Given the description of an element on the screen output the (x, y) to click on. 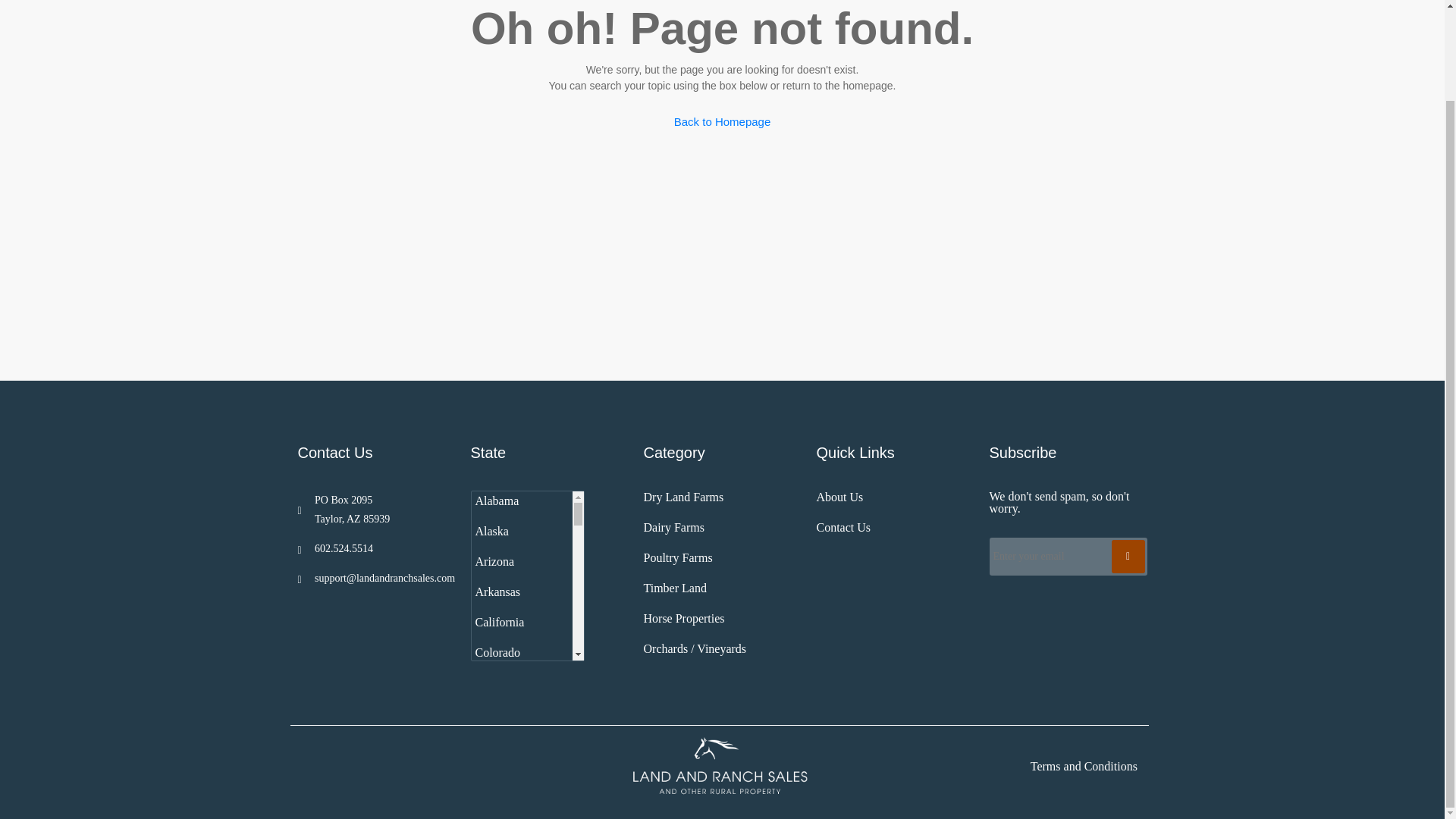
Connecticut (520, 683)
Florida (520, 743)
602.524.5514 (375, 547)
Alaska (520, 531)
Back to Homepage (722, 122)
Alabama (520, 505)
Colorado (520, 653)
Arizona (520, 562)
California (520, 622)
Arkansas (520, 592)
